Given the description of an element on the screen output the (x, y) to click on. 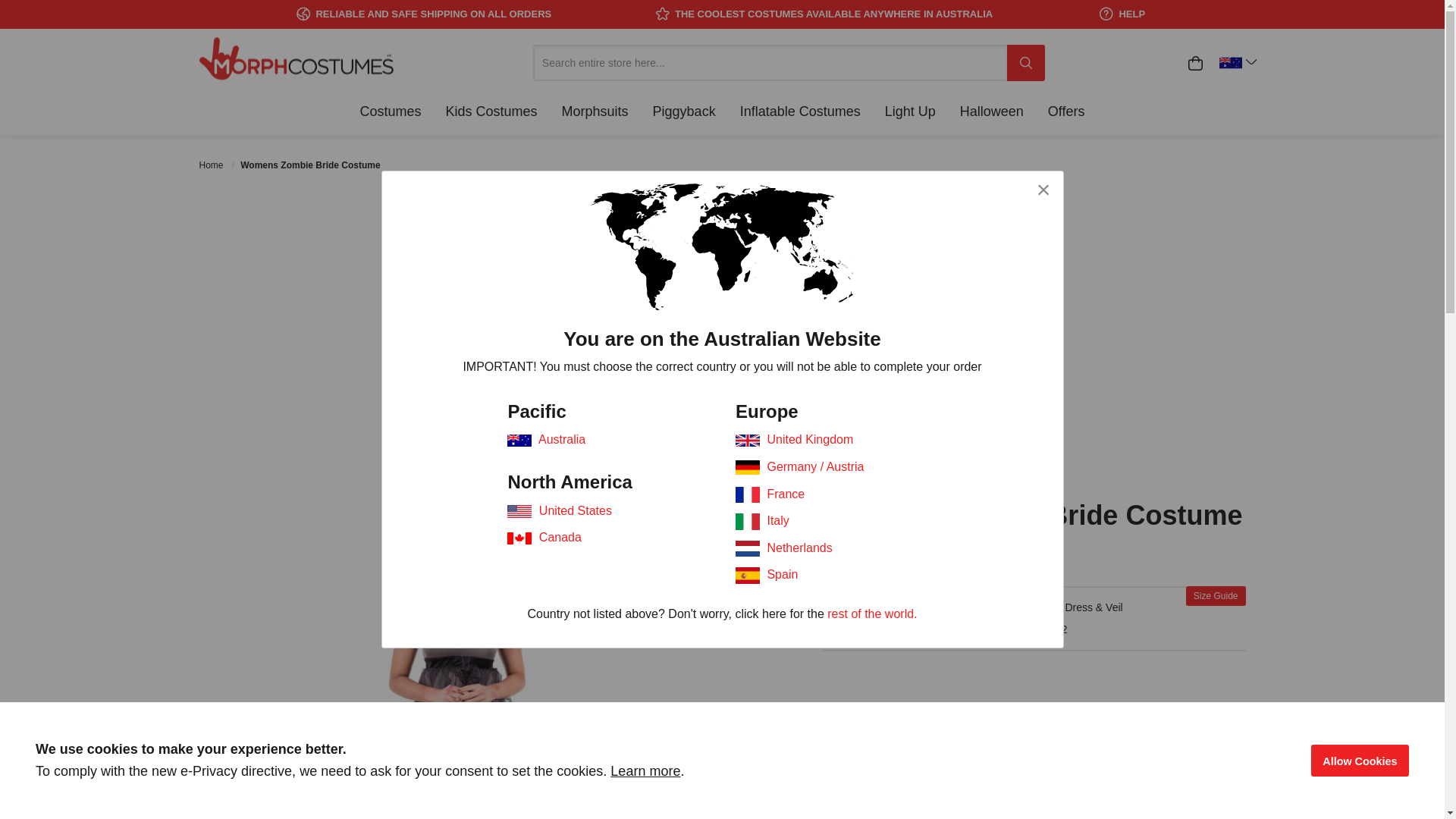
Germany / Austria Element type: text (814, 466)
Offers Element type: text (1066, 111)
United States Element type: text (575, 509)
Canada Element type: text (560, 536)
Spain Element type: text (781, 573)
Search Element type: text (1025, 62)
Light Up Element type: text (909, 111)
Womens Zombie Wind Up Doll Costume Element type: text (634, 419)
Skip to the end of the images gallery Element type: text (198, 500)
Australia Element type: text (561, 439)
Costumes Element type: text (390, 111)
Home Element type: text (211, 165)
Womens Zombie Nurse Costume Element type: text (983, 419)
France Element type: text (785, 492)
Inflatable Costumes Element type: text (800, 111)
Womens Bride Costume Element type: text (809, 419)
Size Guide Element type: text (1215, 595)
select all Element type: text (1111, 759)
Close Element type: text (1043, 189)
My Basket Element type: text (1195, 62)
rest of the world. Element type: text (871, 613)
Womens Zombie Corpse Bride Costume Element type: text (460, 419)
Netherlands Element type: text (798, 547)
Allow Cookies Element type: text (1359, 760)
Italy Element type: text (777, 520)
Learn more Element type: text (645, 770)
Morphsuits Element type: text (594, 111)
HELP Element type: text (1122, 14)
United Kingdom Element type: text (809, 439)
Piggyback Element type: text (684, 111)
Halloween Element type: text (991, 111)
Kids Costumes Element type: text (491, 111)
